Given the description of an element on the screen output the (x, y) to click on. 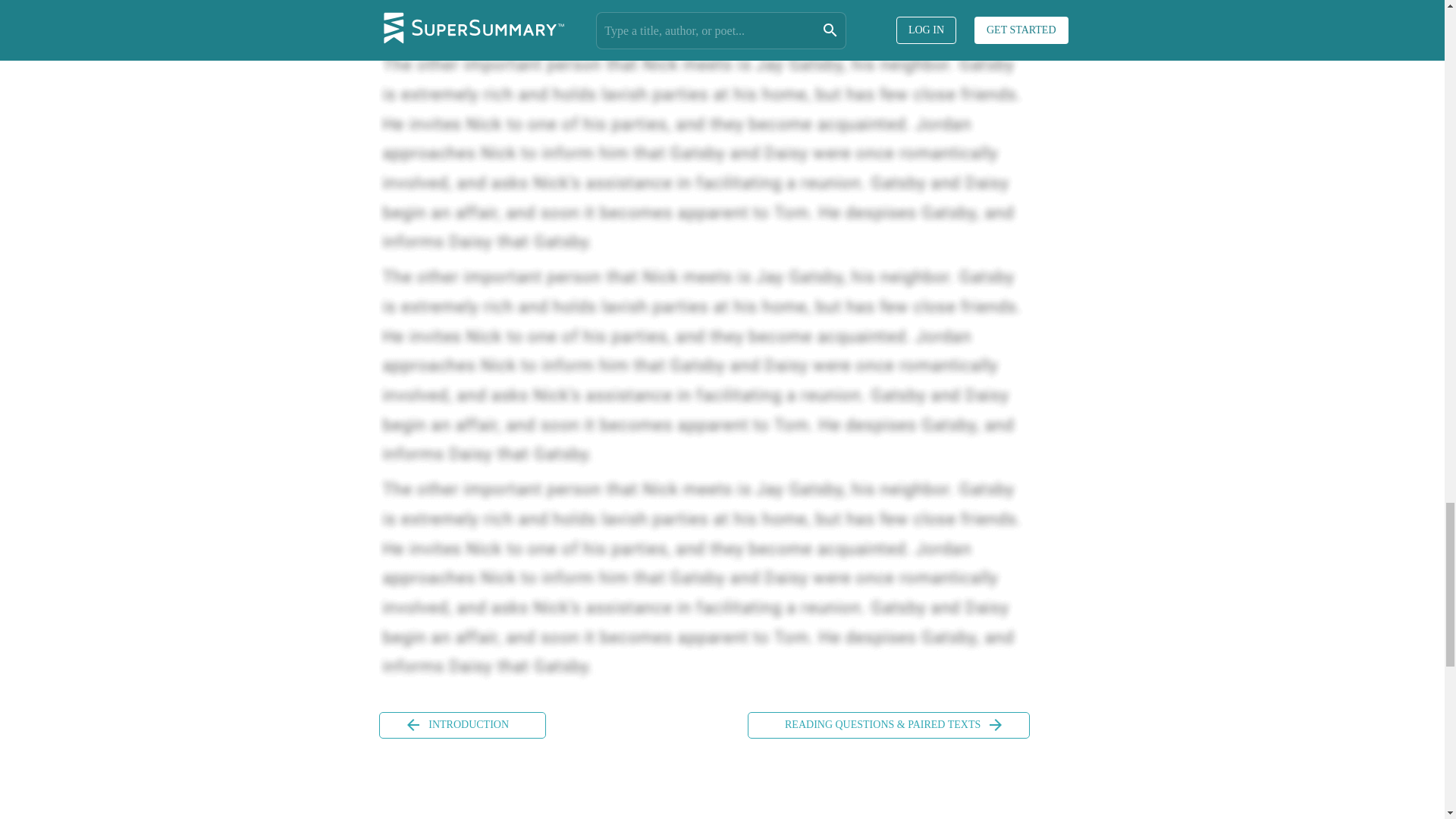
INTRODUCTION (462, 724)
